Given the description of an element on the screen output the (x, y) to click on. 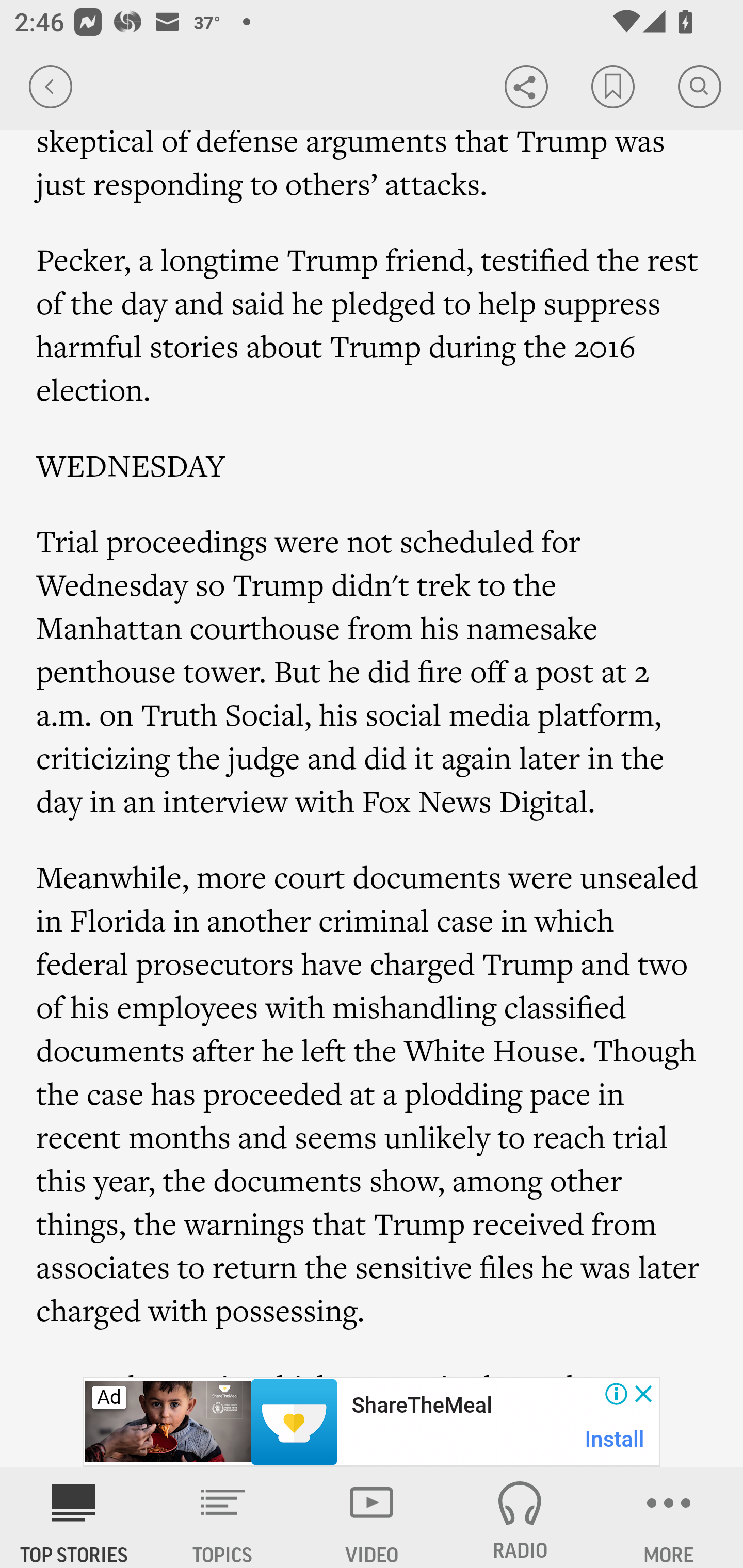
ShareTheMeal (420, 1405)
Install (614, 1438)
AP News TOP STORIES (74, 1517)
TOPICS (222, 1517)
VIDEO (371, 1517)
RADIO (519, 1517)
MORE (668, 1517)
